Given the description of an element on the screen output the (x, y) to click on. 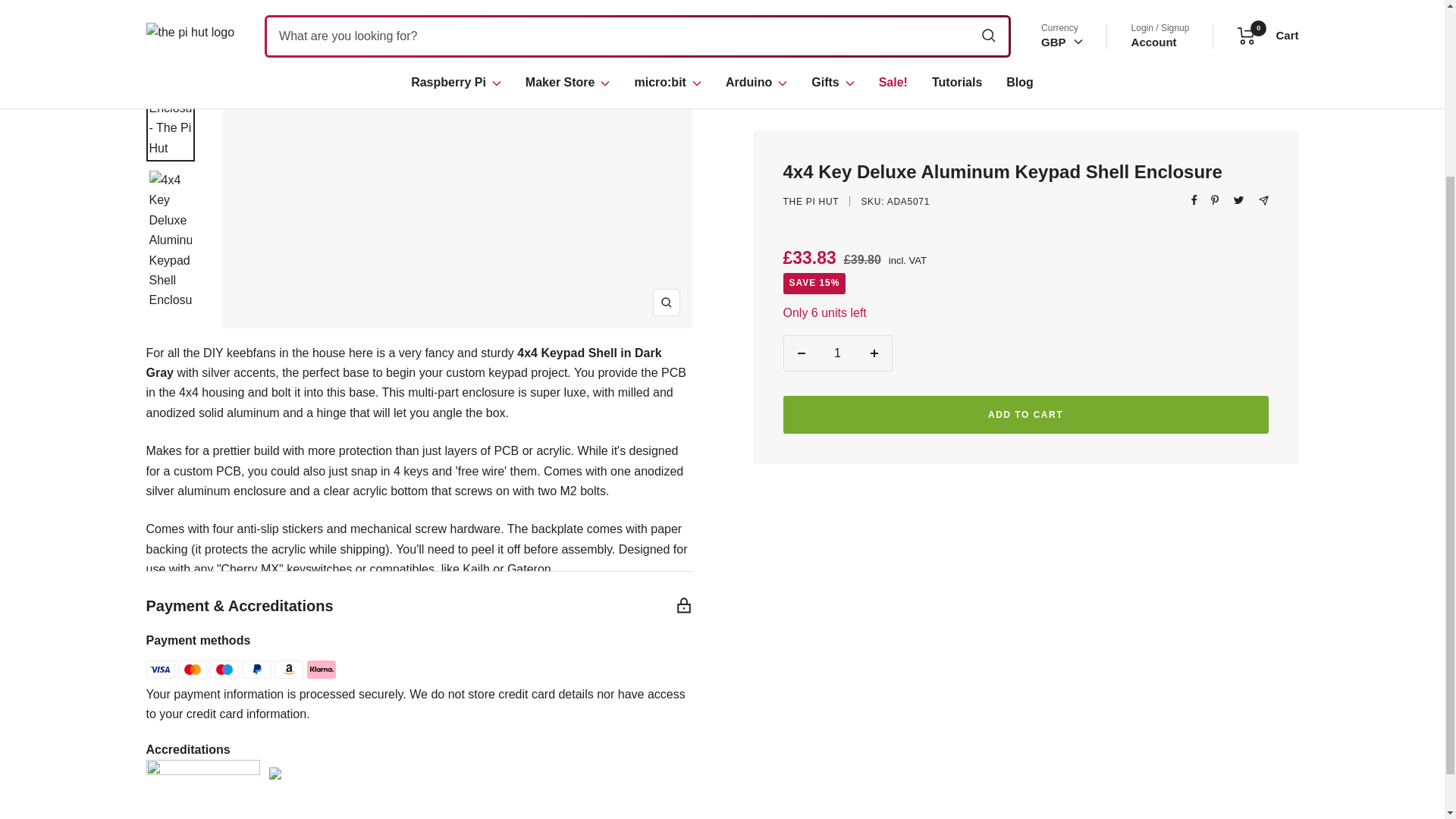
Visa (159, 669)
1 (837, 197)
Mastercard (191, 669)
Maestro (223, 669)
